Given the description of an element on the screen output the (x, y) to click on. 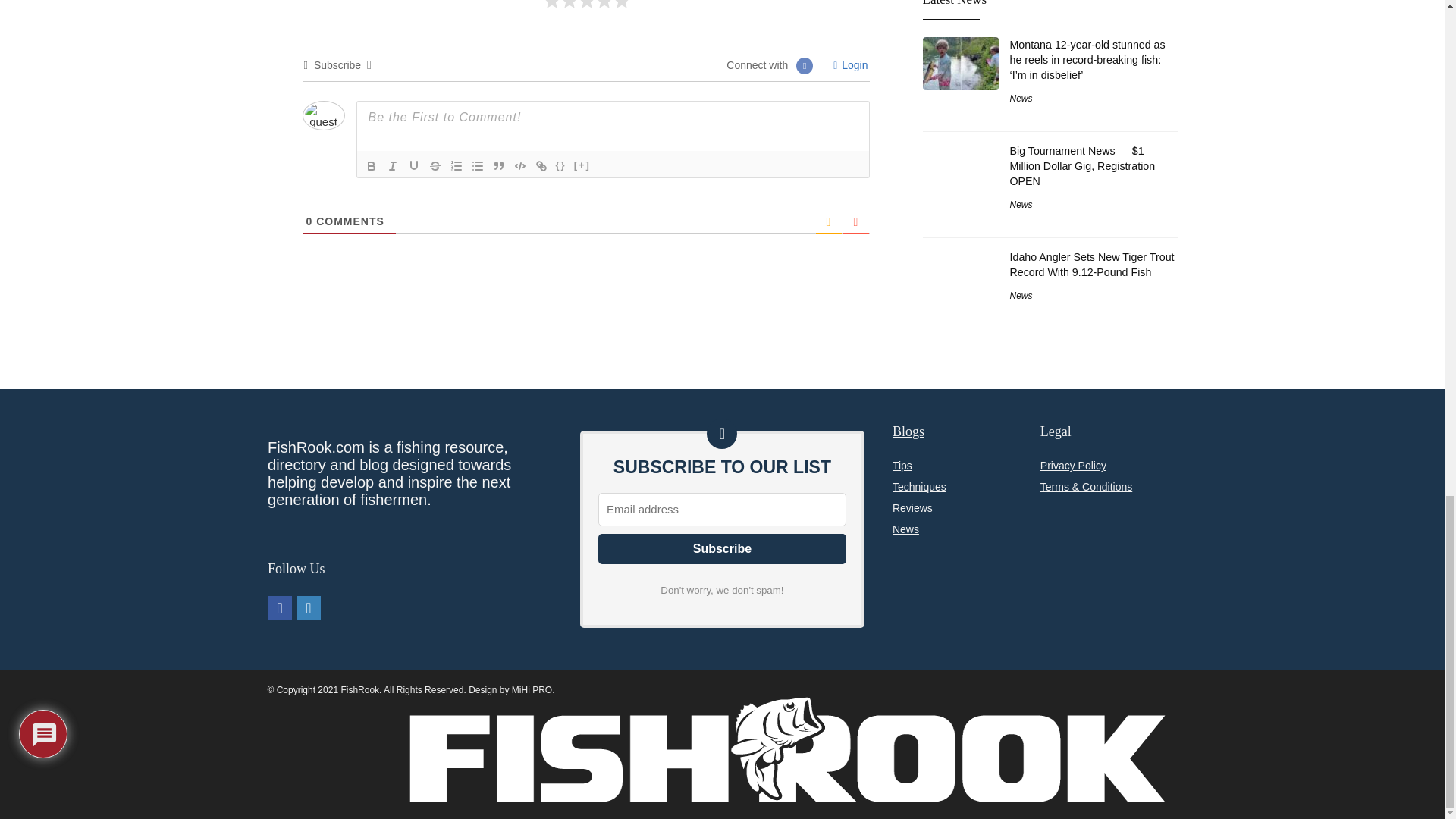
Strike (435, 166)
Link (541, 166)
Unordered List (477, 166)
Underline (414, 166)
Blockquote (498, 166)
Code Block (520, 166)
Italic (392, 166)
Spoiler (582, 166)
Bold (371, 166)
Subscribe (721, 548)
Ordered List (456, 166)
Source Code (560, 166)
